Given the description of an element on the screen output the (x, y) to click on. 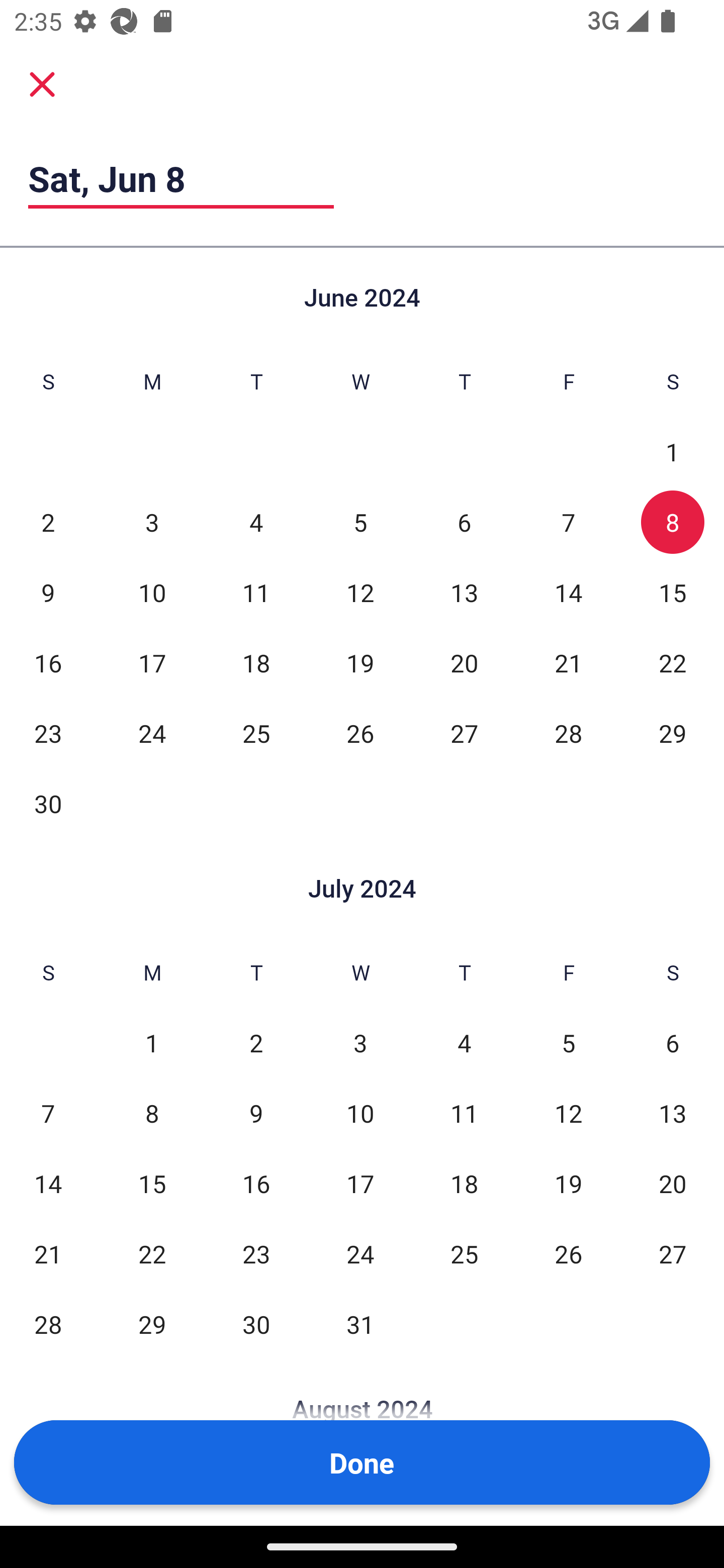
Cancel (41, 83)
Sat, Jun 8 (180, 178)
1 Sat, Jun 1, Not Selected (672, 452)
2 Sun, Jun 2, Not Selected (48, 521)
3 Mon, Jun 3, Not Selected (152, 521)
4 Tue, Jun 4, Not Selected (256, 521)
5 Wed, Jun 5, Not Selected (360, 521)
6 Thu, Jun 6, Not Selected (464, 521)
7 Fri, Jun 7, Not Selected (568, 521)
8 Sat, Jun 8, Selected (672, 521)
9 Sun, Jun 9, Not Selected (48, 591)
10 Mon, Jun 10, Not Selected (152, 591)
11 Tue, Jun 11, Not Selected (256, 591)
12 Wed, Jun 12, Not Selected (360, 591)
13 Thu, Jun 13, Not Selected (464, 591)
14 Fri, Jun 14, Not Selected (568, 591)
15 Sat, Jun 15, Not Selected (672, 591)
16 Sun, Jun 16, Not Selected (48, 662)
17 Mon, Jun 17, Not Selected (152, 662)
18 Tue, Jun 18, Not Selected (256, 662)
19 Wed, Jun 19, Not Selected (360, 662)
20 Thu, Jun 20, Not Selected (464, 662)
21 Fri, Jun 21, Not Selected (568, 662)
22 Sat, Jun 22, Not Selected (672, 662)
23 Sun, Jun 23, Not Selected (48, 732)
24 Mon, Jun 24, Not Selected (152, 732)
25 Tue, Jun 25, Not Selected (256, 732)
26 Wed, Jun 26, Not Selected (360, 732)
27 Thu, Jun 27, Not Selected (464, 732)
28 Fri, Jun 28, Not Selected (568, 732)
29 Sat, Jun 29, Not Selected (672, 732)
30 Sun, Jun 30, Not Selected (48, 803)
1 Mon, Jul 1, Not Selected (152, 1043)
2 Tue, Jul 2, Not Selected (256, 1043)
3 Wed, Jul 3, Not Selected (360, 1043)
4 Thu, Jul 4, Not Selected (464, 1043)
5 Fri, Jul 5, Not Selected (568, 1043)
6 Sat, Jul 6, Not Selected (672, 1043)
7 Sun, Jul 7, Not Selected (48, 1112)
8 Mon, Jul 8, Not Selected (152, 1112)
9 Tue, Jul 9, Not Selected (256, 1112)
10 Wed, Jul 10, Not Selected (360, 1112)
11 Thu, Jul 11, Not Selected (464, 1112)
12 Fri, Jul 12, Not Selected (568, 1112)
13 Sat, Jul 13, Not Selected (672, 1112)
14 Sun, Jul 14, Not Selected (48, 1182)
15 Mon, Jul 15, Not Selected (152, 1182)
16 Tue, Jul 16, Not Selected (256, 1182)
17 Wed, Jul 17, Not Selected (360, 1182)
18 Thu, Jul 18, Not Selected (464, 1182)
19 Fri, Jul 19, Not Selected (568, 1182)
20 Sat, Jul 20, Not Selected (672, 1182)
21 Sun, Jul 21, Not Selected (48, 1253)
22 Mon, Jul 22, Not Selected (152, 1253)
23 Tue, Jul 23, Not Selected (256, 1253)
24 Wed, Jul 24, Not Selected (360, 1253)
25 Thu, Jul 25, Not Selected (464, 1253)
26 Fri, Jul 26, Not Selected (568, 1253)
27 Sat, Jul 27, Not Selected (672, 1253)
28 Sun, Jul 28, Not Selected (48, 1323)
29 Mon, Jul 29, Not Selected (152, 1323)
30 Tue, Jul 30, Not Selected (256, 1323)
31 Wed, Jul 31, Not Selected (360, 1323)
Done Button Done (361, 1462)
